Given the description of an element on the screen output the (x, y) to click on. 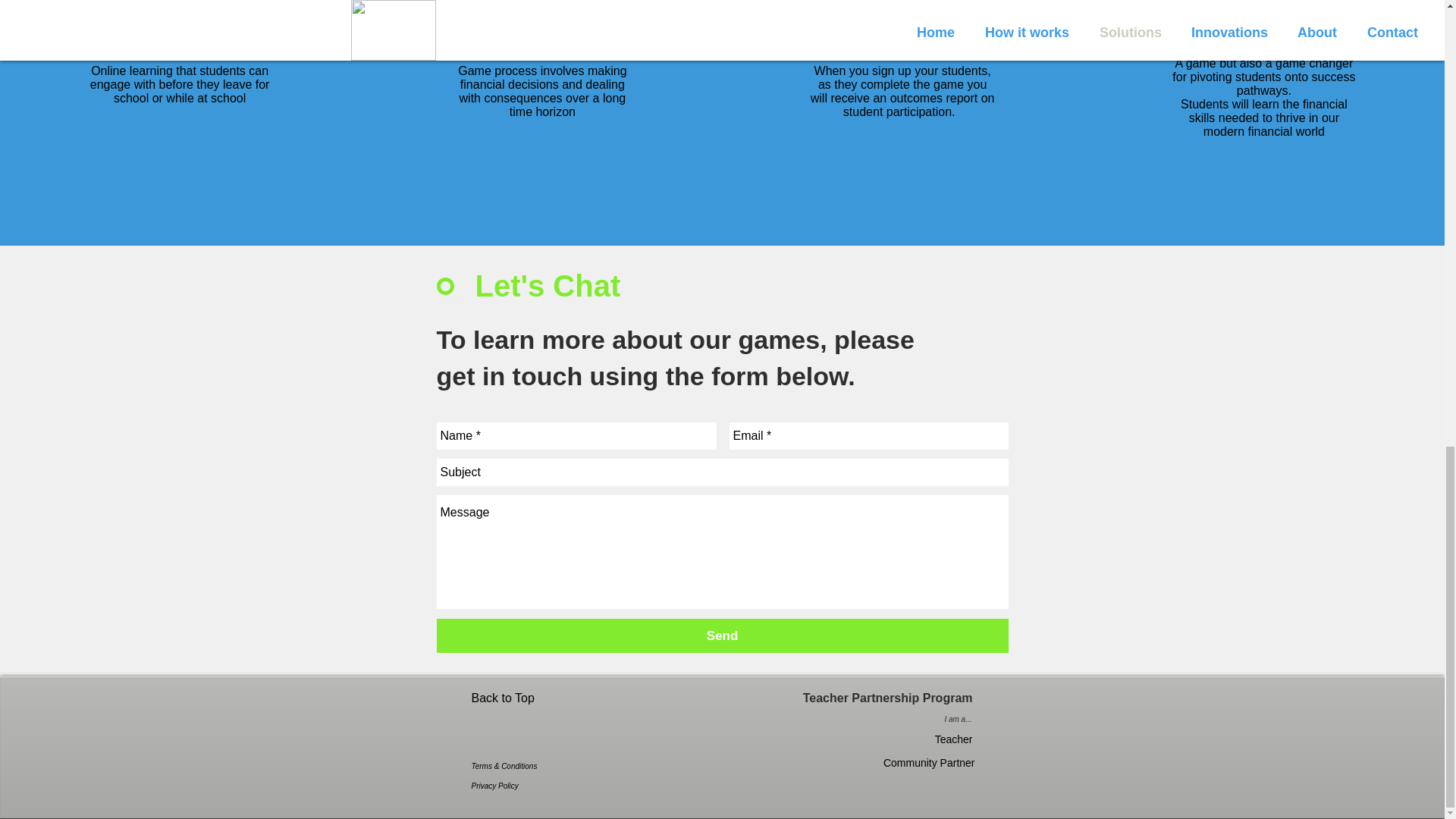
Community Partner (926, 763)
Back to Top (524, 698)
Privacy Policy (518, 786)
Teacher (938, 740)
Send (722, 635)
